Given the description of an element on the screen output the (x, y) to click on. 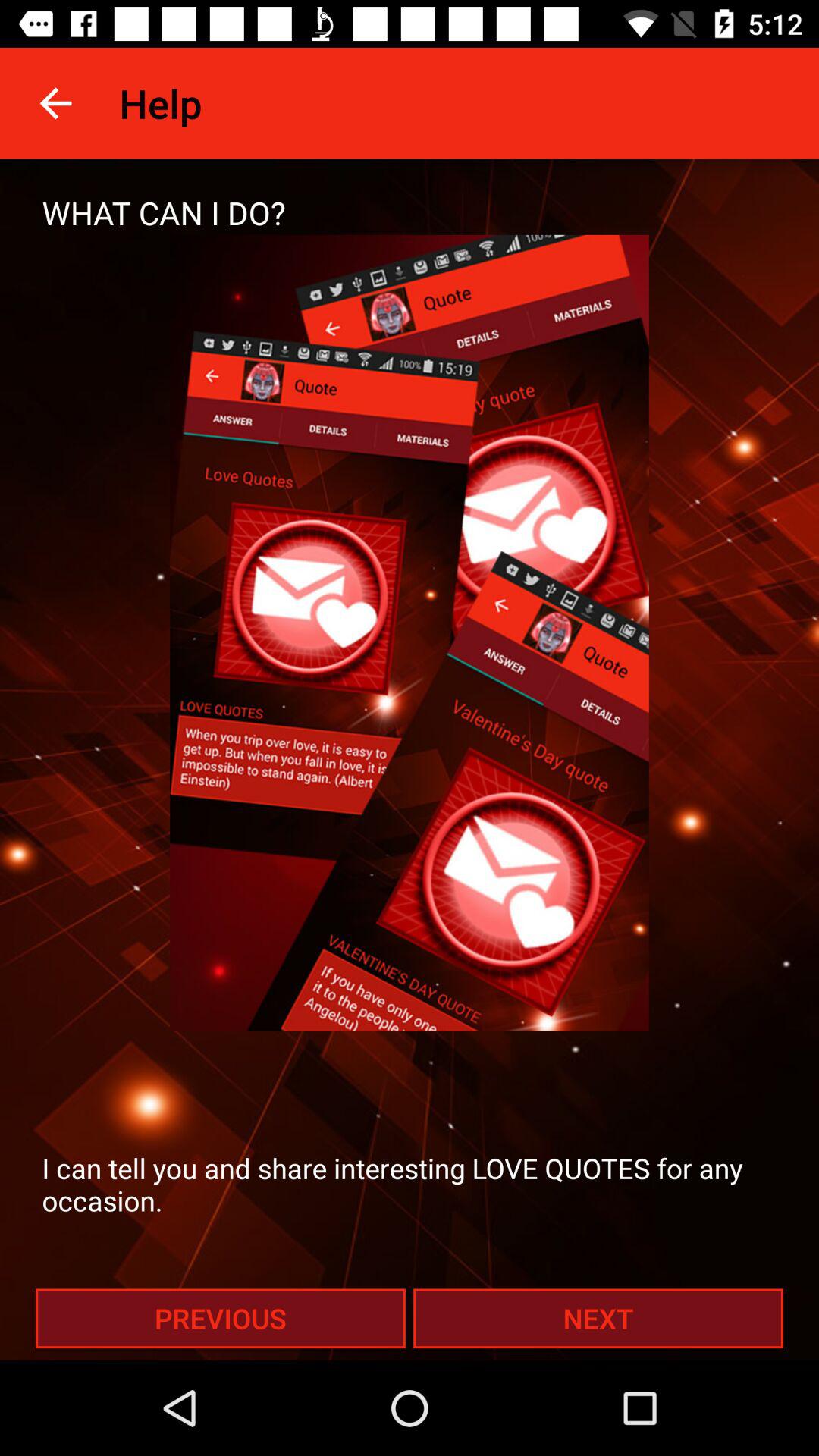
select the icon next to the previous icon (598, 1318)
